Given the description of an element on the screen output the (x, y) to click on. 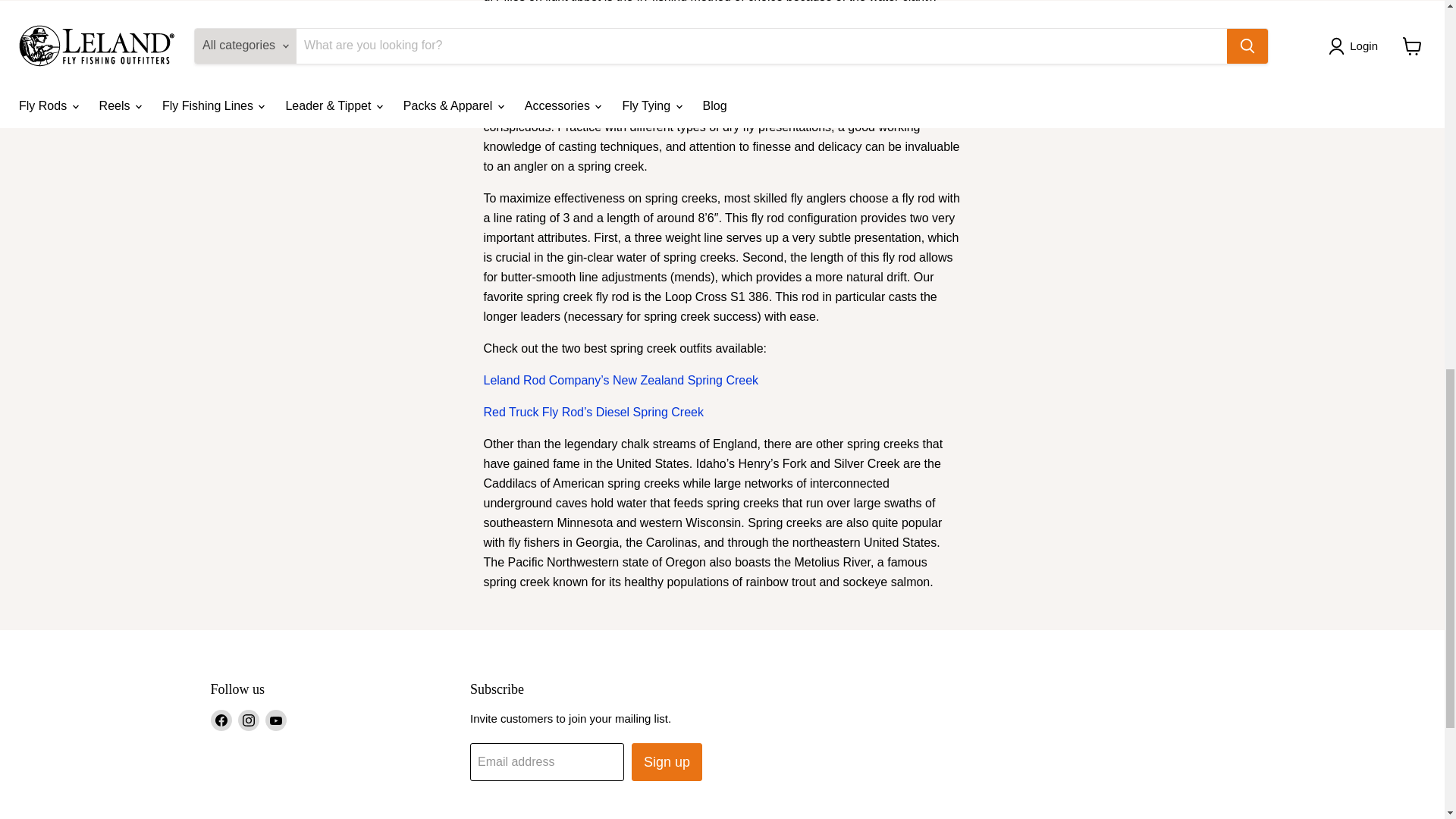
Instagram (248, 720)
YouTube (275, 720)
Facebook (221, 720)
